Given the description of an element on the screen output the (x, y) to click on. 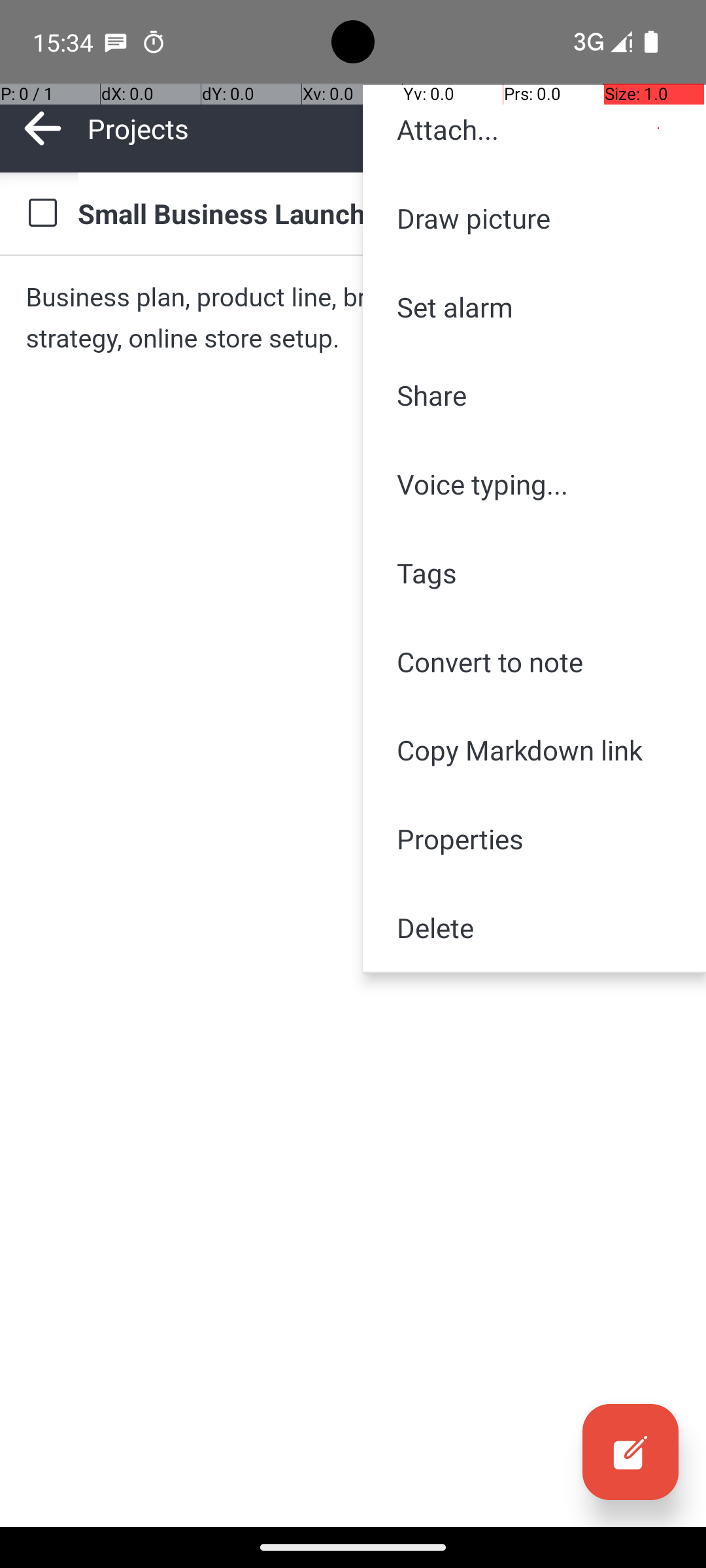
Small Business Launch - Handmade Jewelry Element type: android.widget.EditText (378, 213)
Set alarm Element type: android.widget.TextView (534, 306)
Convert to note Element type: android.widget.TextView (534, 661)
Business plan, product line, branding, pricing, marketing strategy, online store setup. Element type: android.widget.TextView (352, 317)
